Given the description of an element on the screen output the (x, y) to click on. 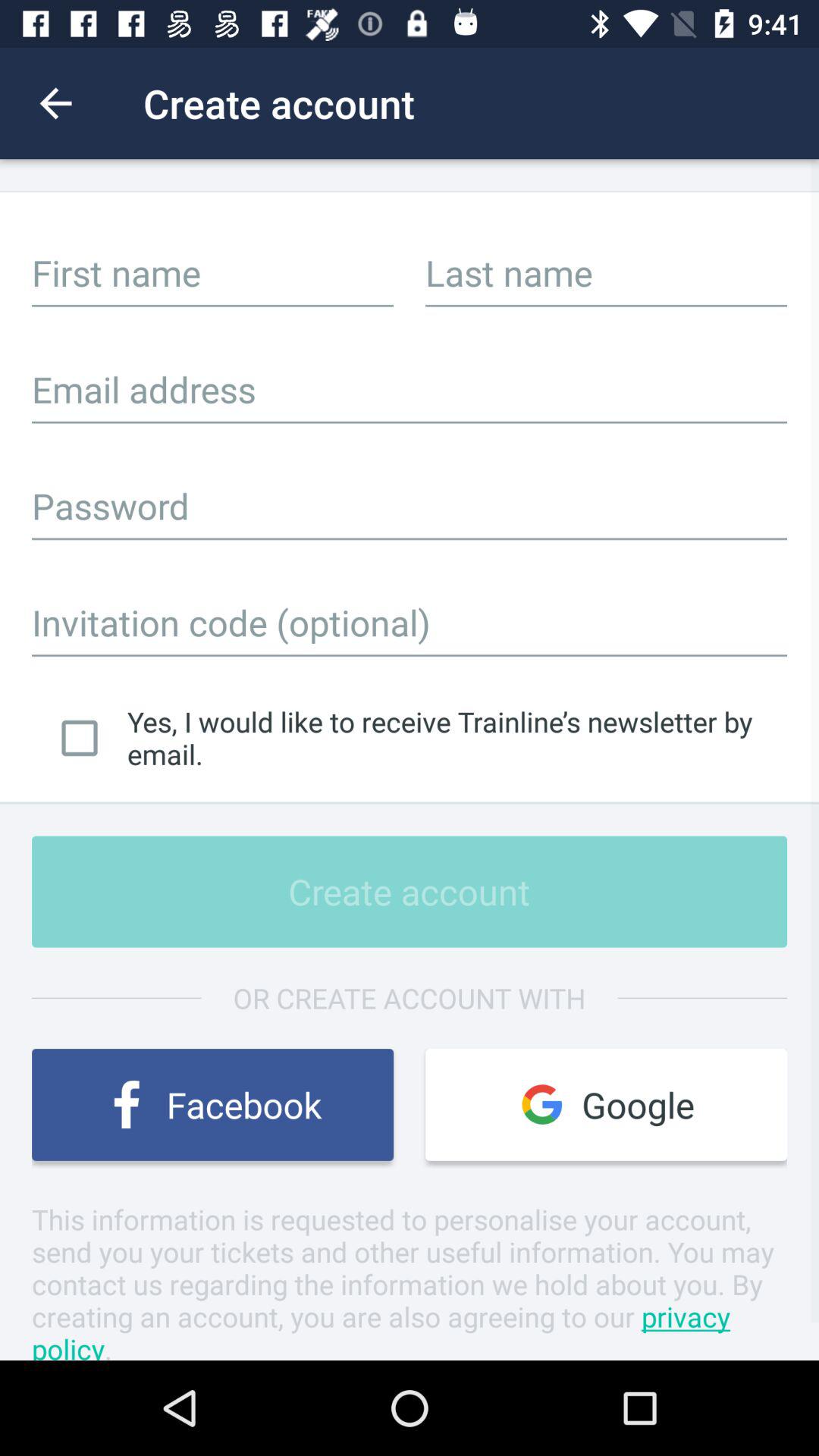
turn on this information is item (409, 1280)
